Given the description of an element on the screen output the (x, y) to click on. 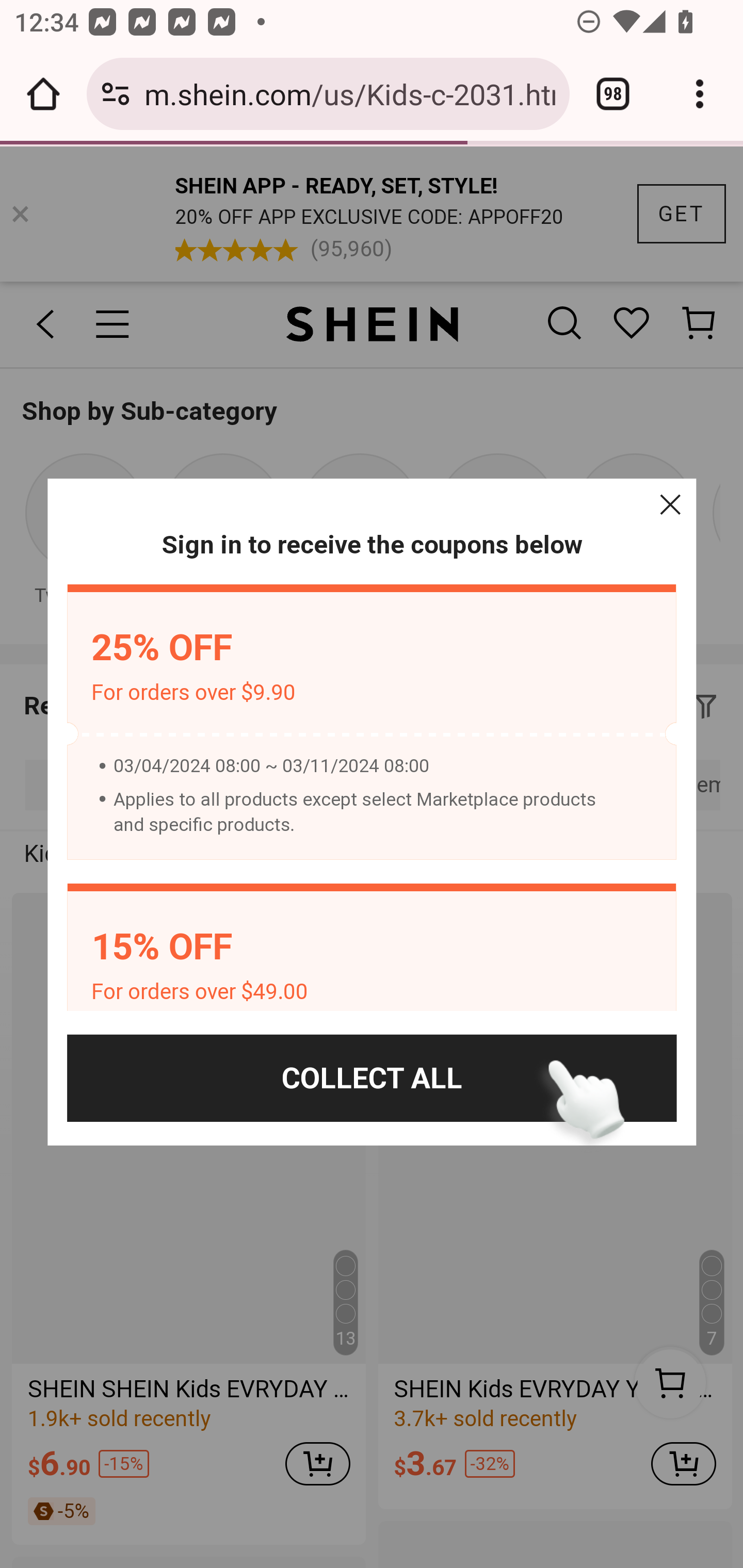
Open the home page (43, 93)
Connection is secure (115, 93)
Switch or close tabs (612, 93)
Customize and control Google Chrome (699, 93)
